Given the description of an element on the screen output the (x, y) to click on. 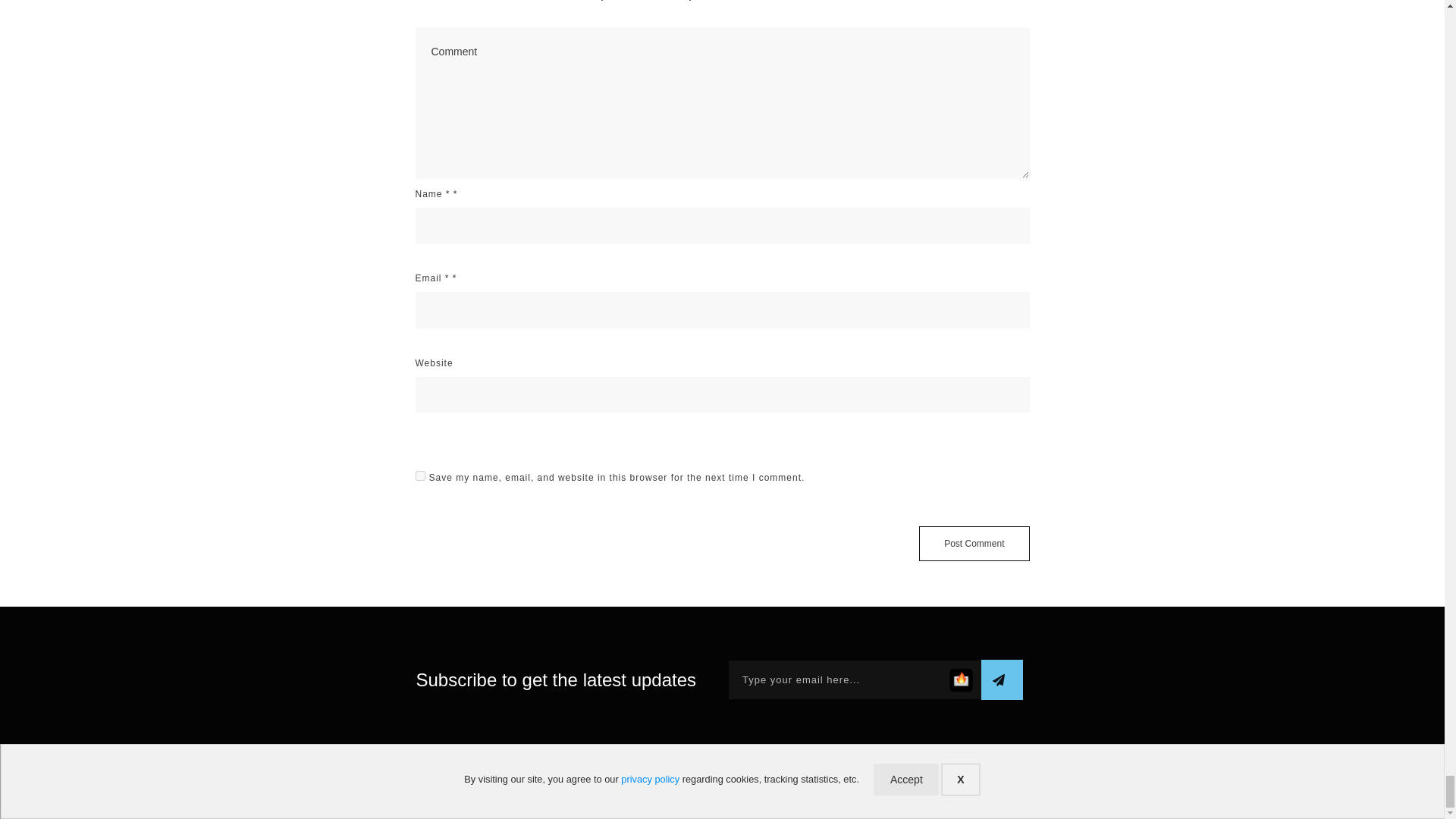
yes (419, 475)
